Given the description of an element on the screen output the (x, y) to click on. 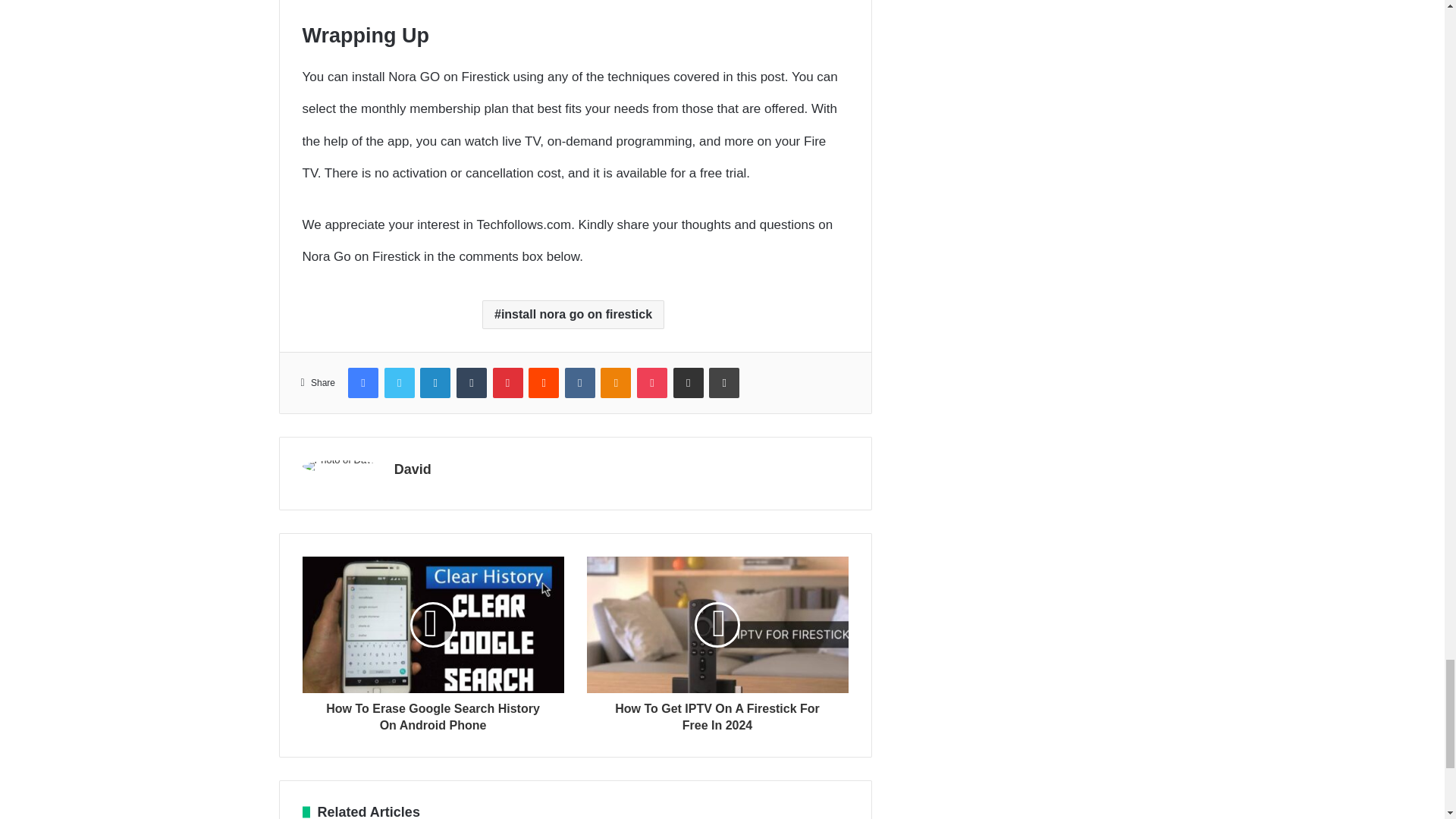
Pinterest (507, 381)
VKontakte (579, 381)
Facebook (362, 381)
Twitter (399, 381)
Reddit (543, 381)
Twitter (399, 381)
Pocket (651, 381)
Tumblr (471, 381)
Tumblr (471, 381)
Odnoklassniki (614, 381)
